Given the description of an element on the screen output the (x, y) to click on. 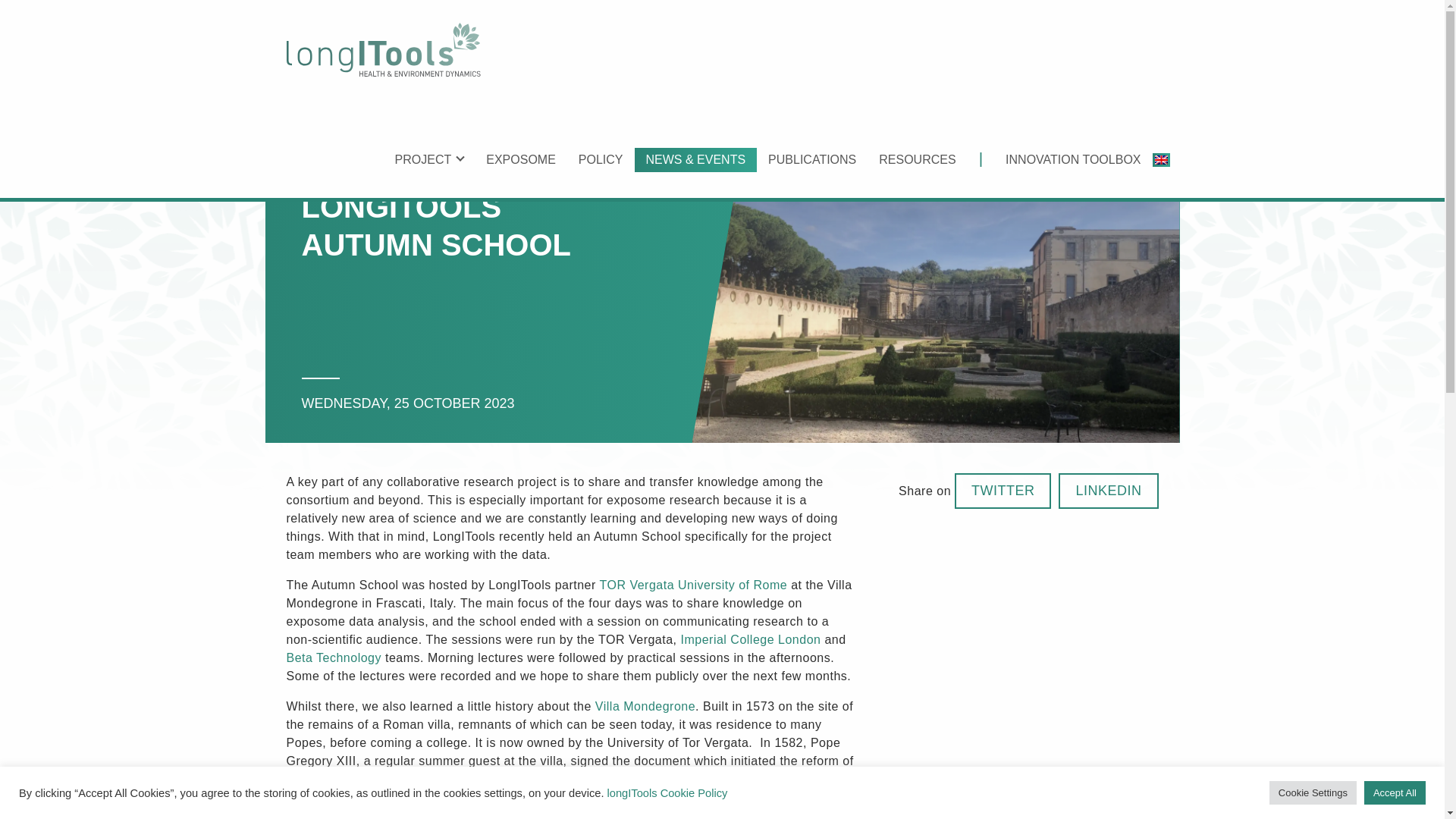
Home (383, 49)
INNOVATION TOOLBOX (1072, 159)
LINKEDIN (1107, 490)
TWITTER (1003, 490)
RESOURCES (916, 159)
POLICY (600, 159)
Villa Mondegrone (645, 706)
Imperial College London (751, 639)
Accept All (1394, 792)
LongITools (383, 49)
PROJECT (430, 159)
PUBLICATIONS (812, 159)
Beta Technology (333, 657)
Cookie Settings (1312, 792)
longITools Cookie Policy (667, 793)
